Given the description of an element on the screen output the (x, y) to click on. 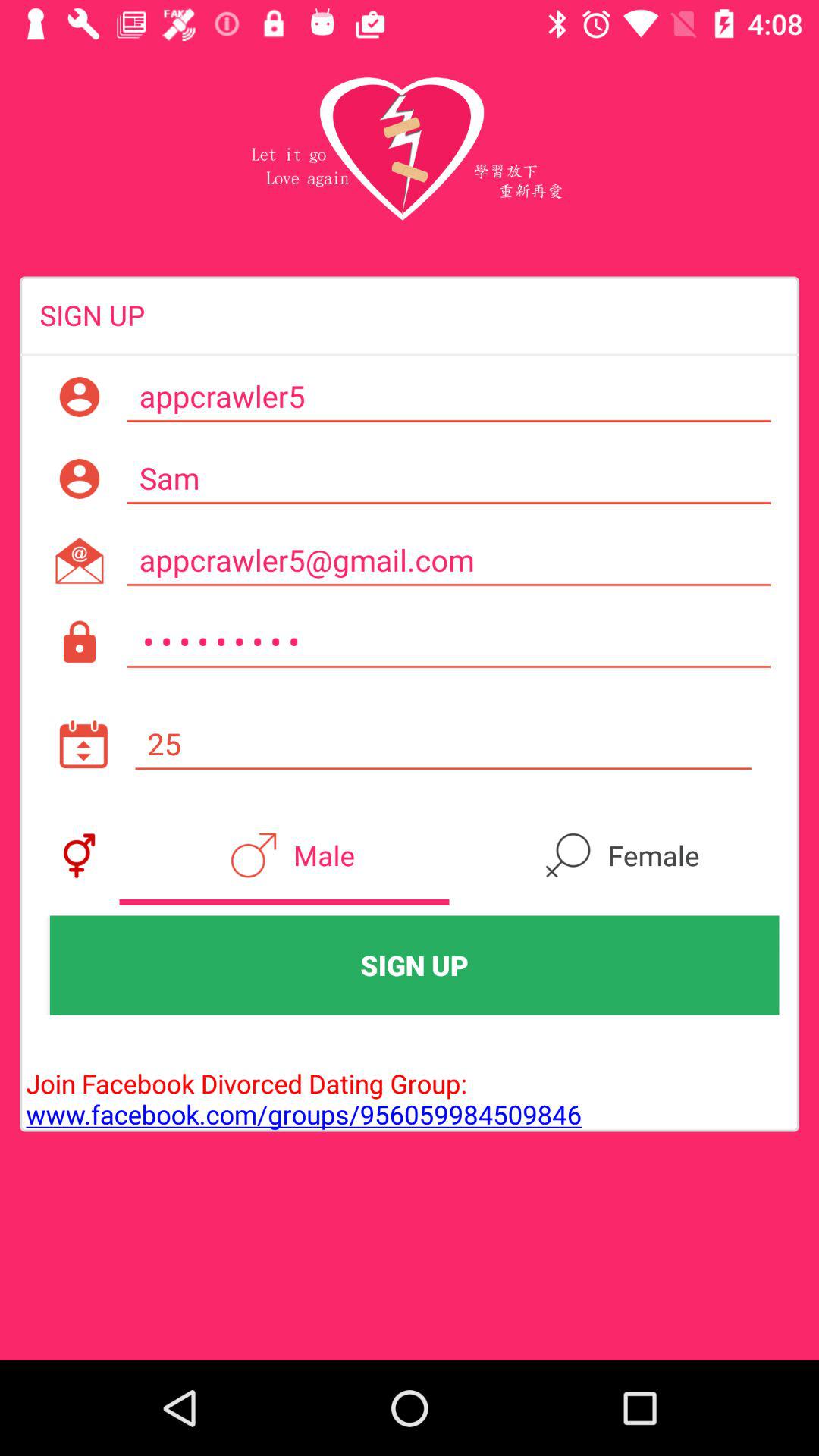
tap the item below the sam (449, 560)
